Given the description of an element on the screen output the (x, y) to click on. 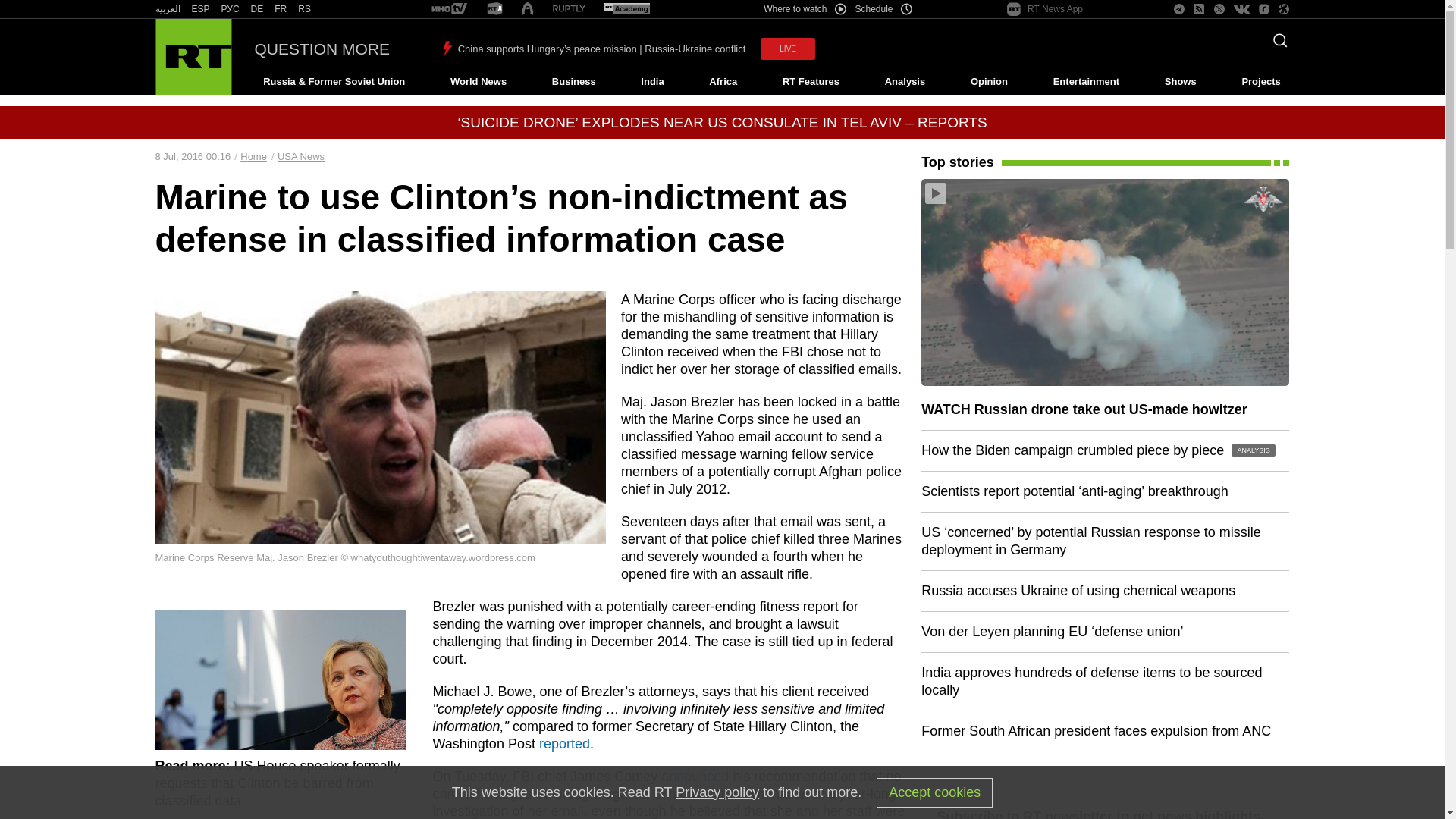
World News (478, 81)
ESP (199, 9)
Search (1276, 44)
DE (256, 9)
RT News App (1045, 9)
RT  (626, 9)
RT  (166, 9)
RT  (280, 9)
RT  (494, 9)
Business (573, 81)
Analysis (905, 81)
RT  (569, 8)
RS (304, 9)
Where to watch (803, 9)
RT  (230, 9)
